Given the description of an element on the screen output the (x, y) to click on. 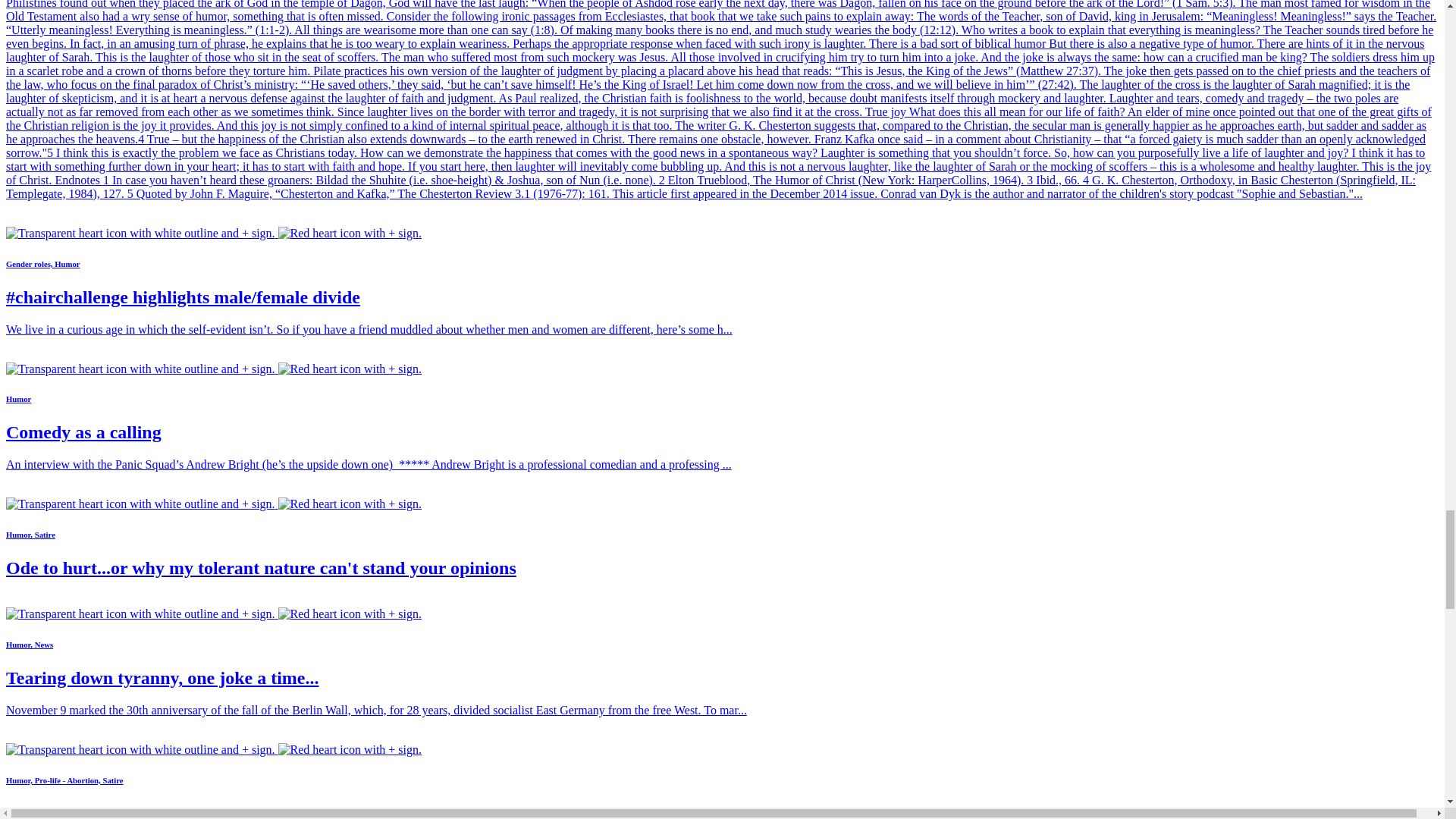
Subscribe to RP (213, 368)
Subscribe to RP (213, 503)
Subscribe to RP (213, 613)
Subscribe to RP (213, 232)
